Given the description of an element on the screen output the (x, y) to click on. 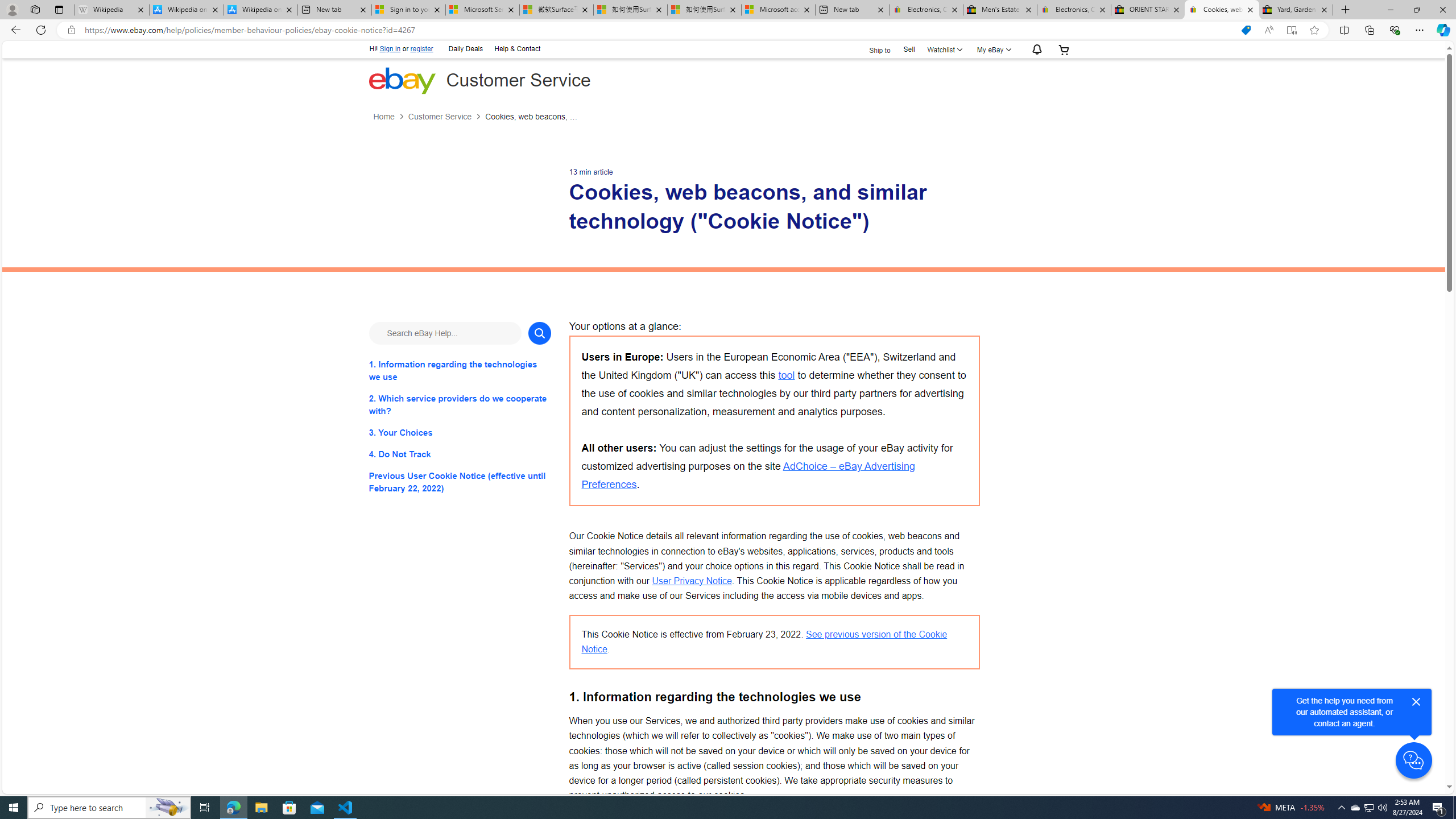
Ship to (872, 50)
My eBay (992, 49)
Notifications (1034, 49)
eBay Home (401, 80)
Sign in (390, 49)
Microsoft Services Agreement (482, 9)
Customer Service (446, 117)
Expand Cart (1064, 49)
3. Your Choices (459, 431)
